Given the description of an element on the screen output the (x, y) to click on. 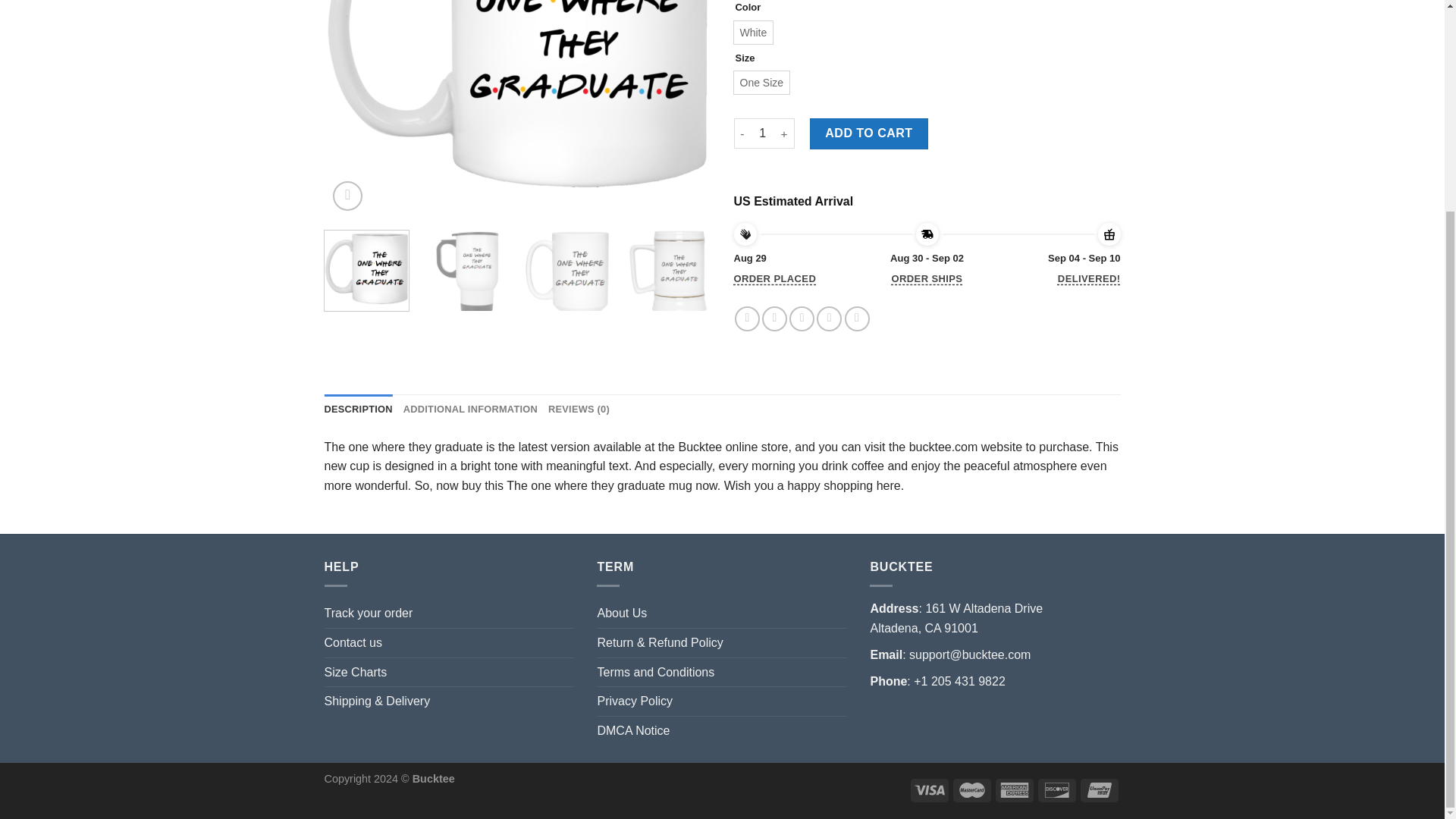
White (753, 32)
One Size (761, 82)
Size Charts (355, 672)
ORDER PLACED (774, 278)
ADDITIONAL INFORMATION (470, 409)
The one where they graduate mug (517, 109)
DESCRIPTION (358, 409)
Zoom (347, 195)
ADD TO CART (868, 132)
Contact us (352, 642)
